Given the description of an element on the screen output the (x, y) to click on. 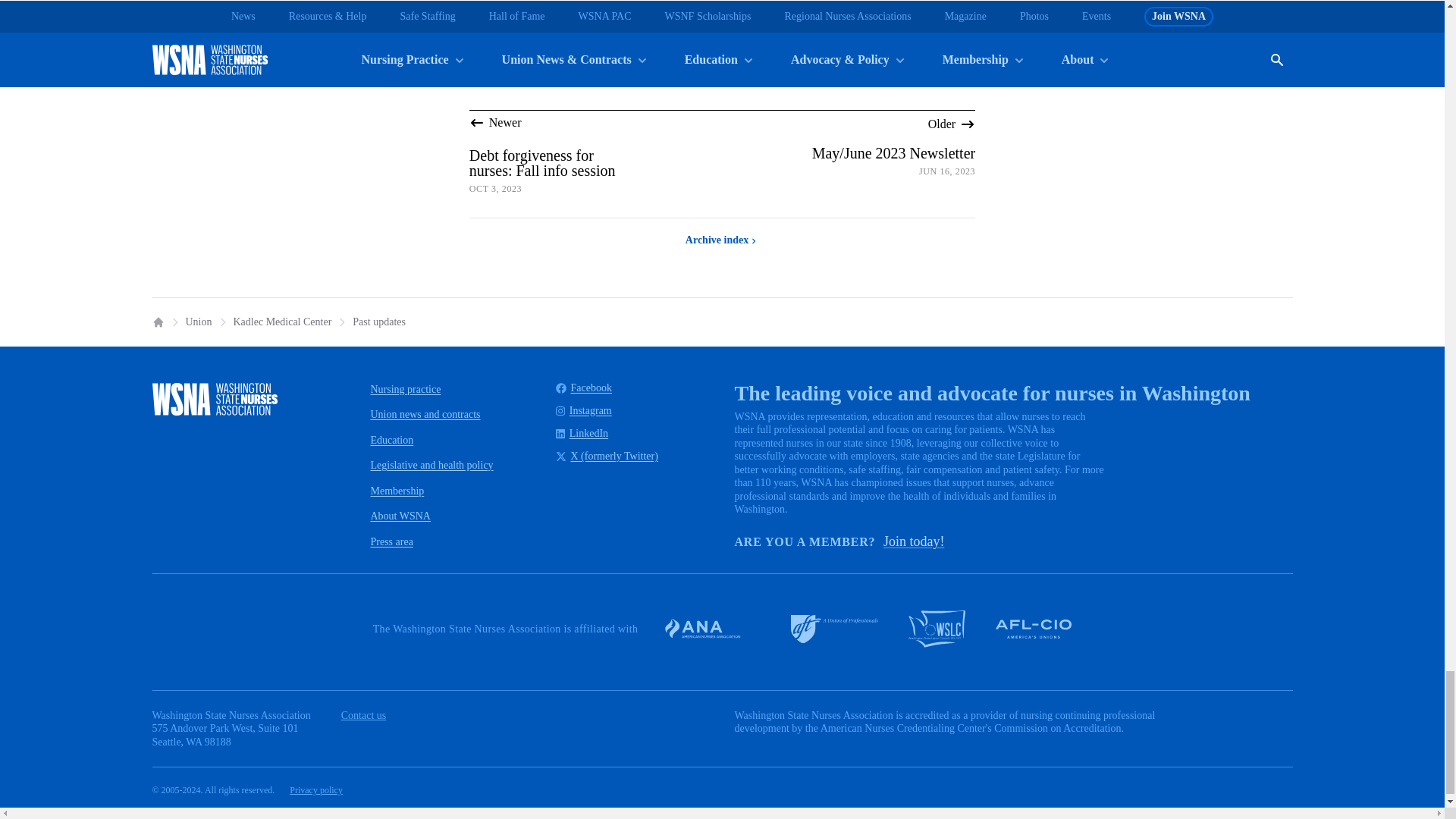
AFT - A Union of Professionals (833, 629)
AFL-CIO (1033, 628)
American Nurses Association (711, 628)
Washington State Labor Council (936, 628)
Washington State Nurses Association (213, 399)
